Given the description of an element on the screen output the (x, y) to click on. 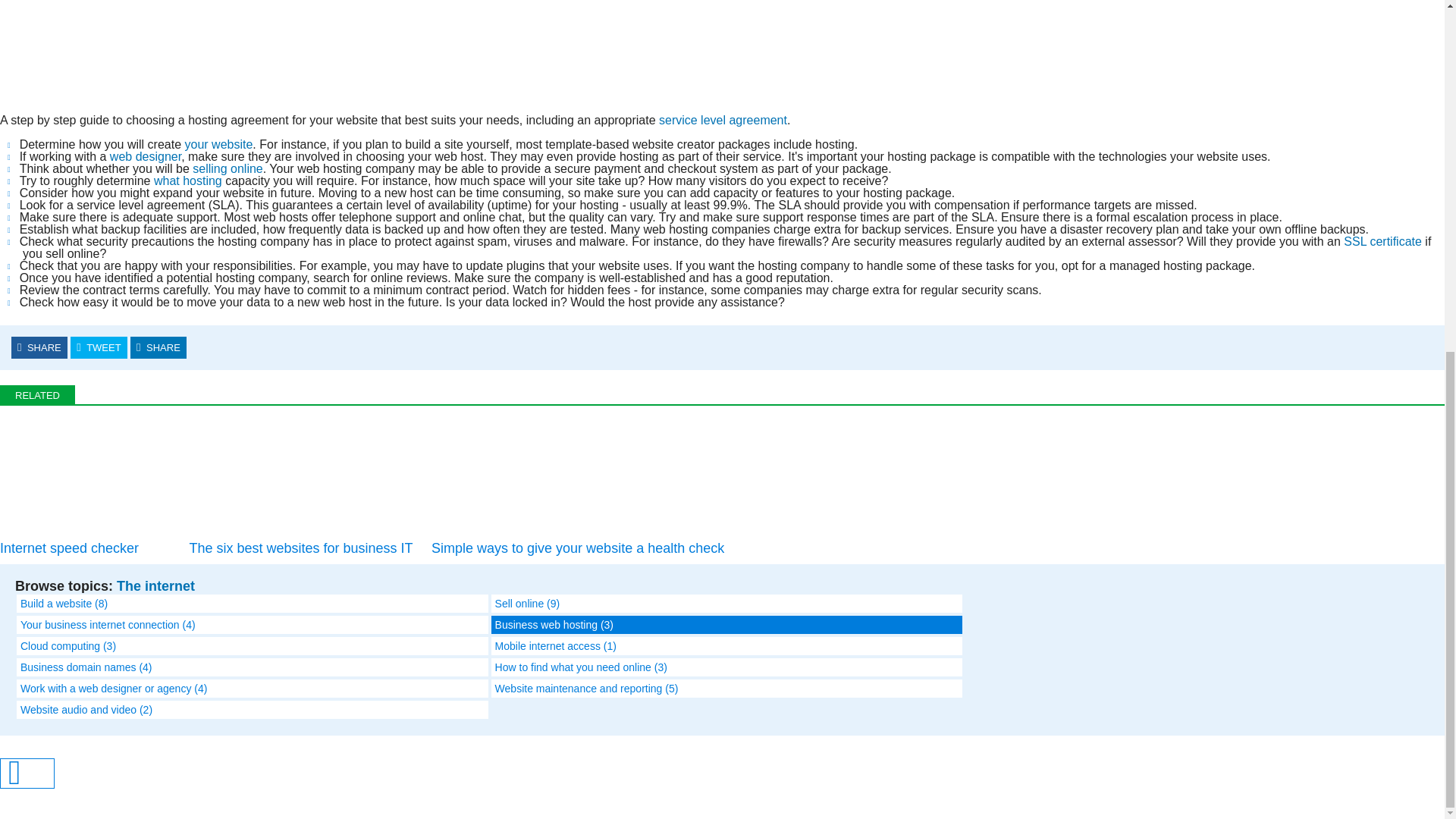
Types of web hosting (168, 180)
Your website (218, 144)
service level agreement (723, 119)
SSL encryption for your website (1382, 241)
Web designer (145, 155)
Types of web hosting (202, 180)
Finding the right web hosting - checklist (1359, 49)
Selling online (227, 168)
